Given the description of an element on the screen output the (x, y) to click on. 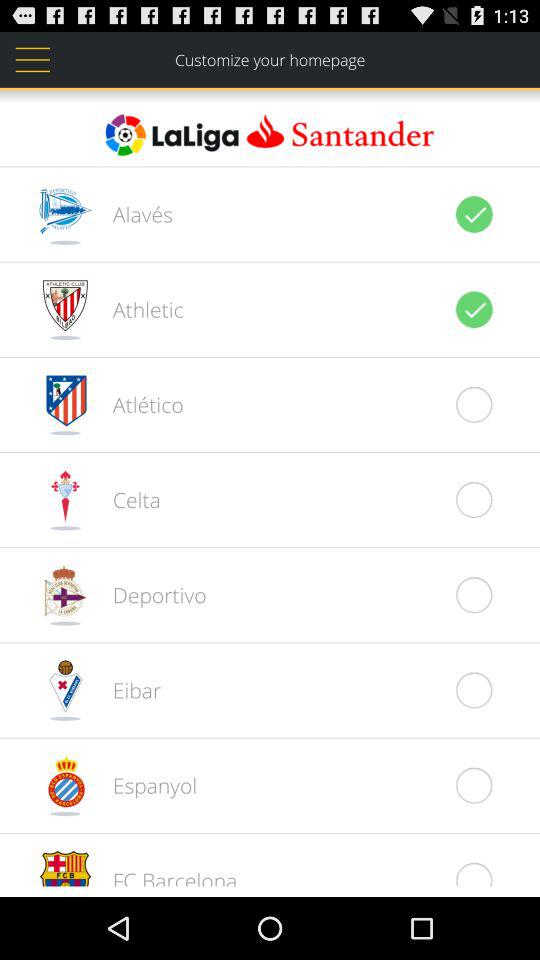
jump until the fc barcelona item (164, 876)
